Given the description of an element on the screen output the (x, y) to click on. 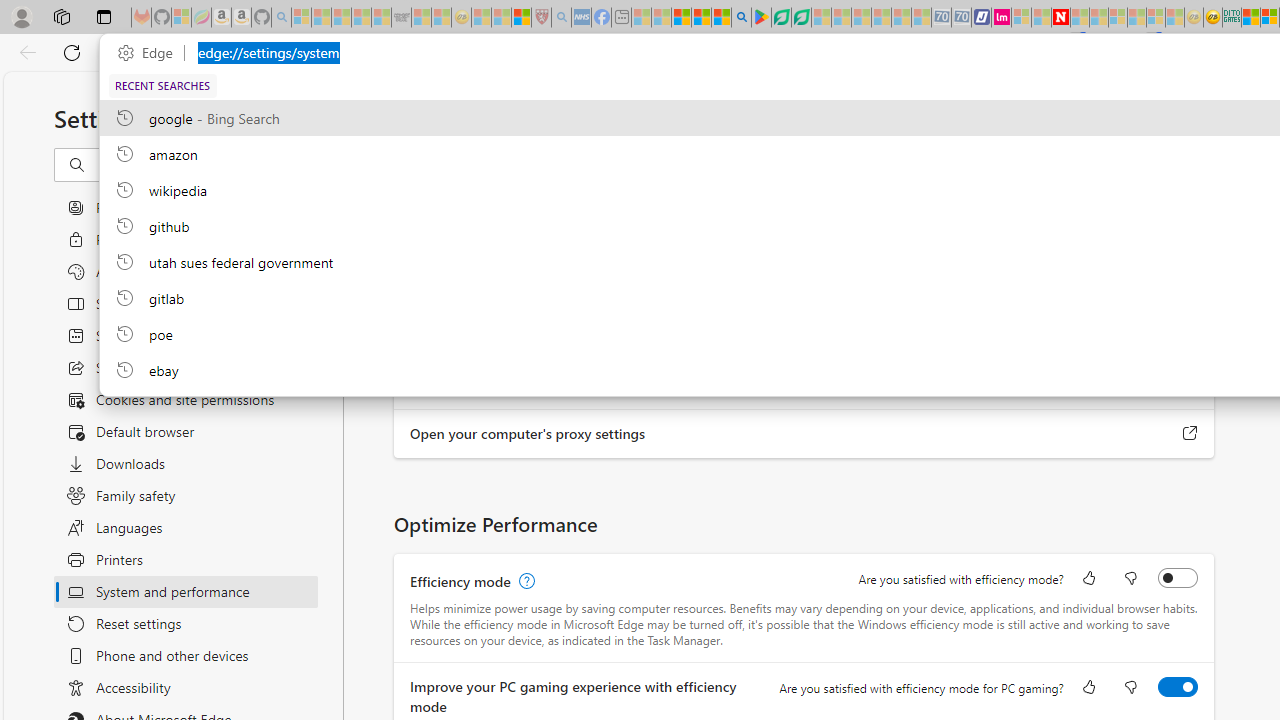
Jobs - lastminute.com Investor Portal (1001, 17)
Improve your PC gaming experience with efficiency mode (1178, 686)
Search settings (207, 165)
Pets - MSN (701, 17)
